Given the description of an element on the screen output the (x, y) to click on. 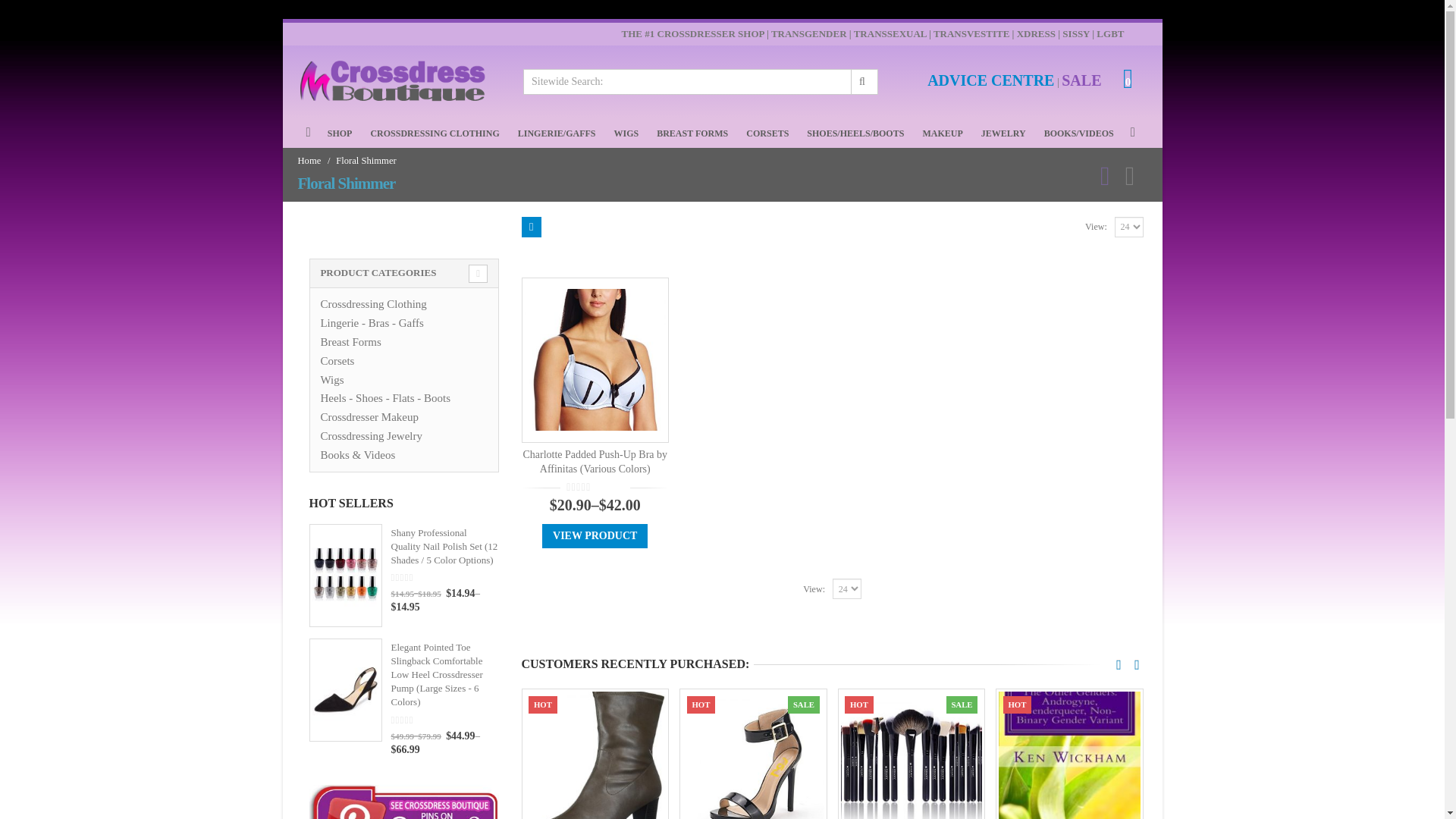
Grid View (531, 227)
SHOP (339, 132)
CROSSDRESSING CLOTHING (433, 132)
WIGS (625, 132)
Search (862, 81)
SALE (1080, 81)
ADVICE CENTRE (990, 81)
